Given the description of an element on the screen output the (x, y) to click on. 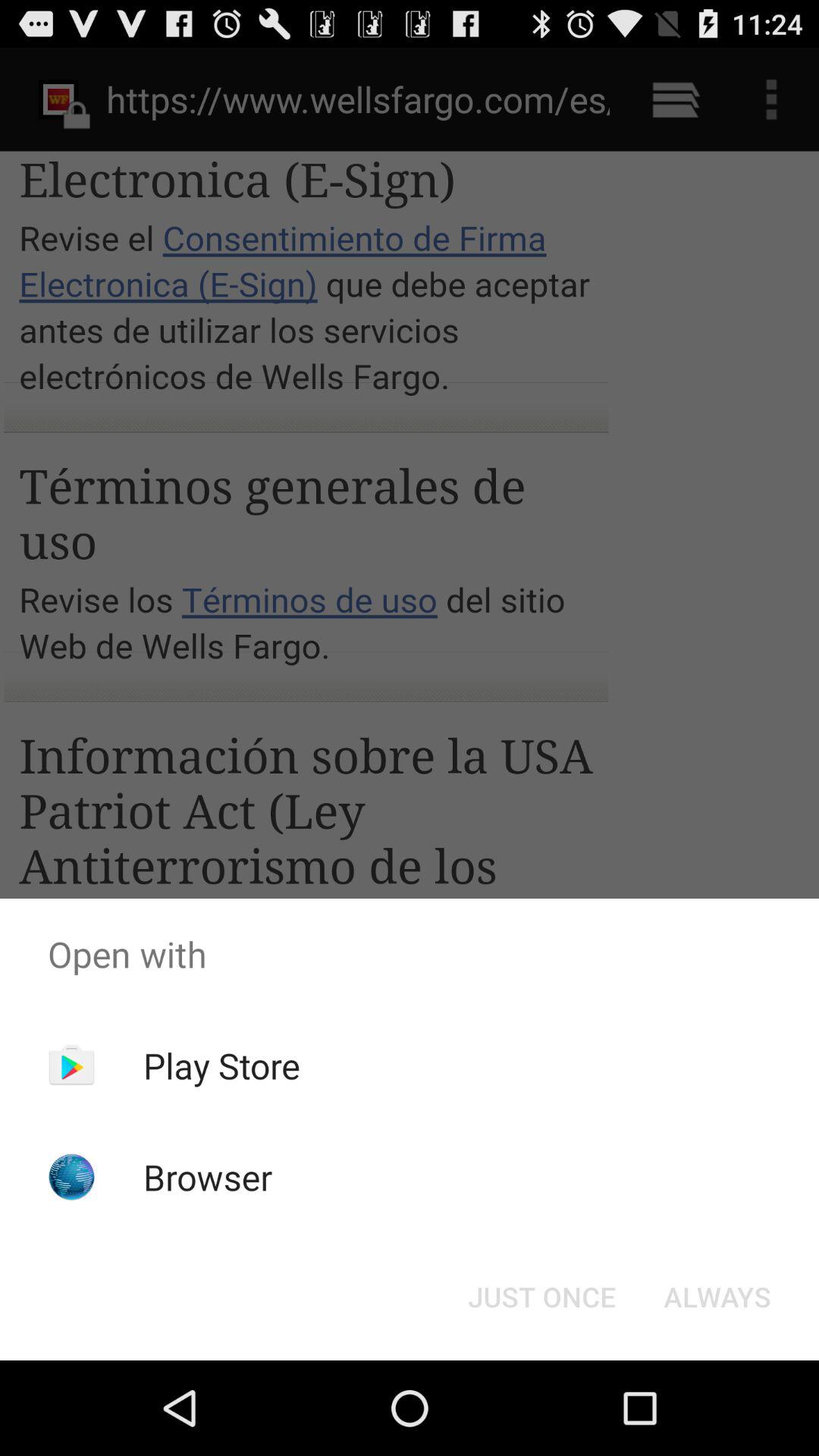
swipe to play store (221, 1065)
